Given the description of an element on the screen output the (x, y) to click on. 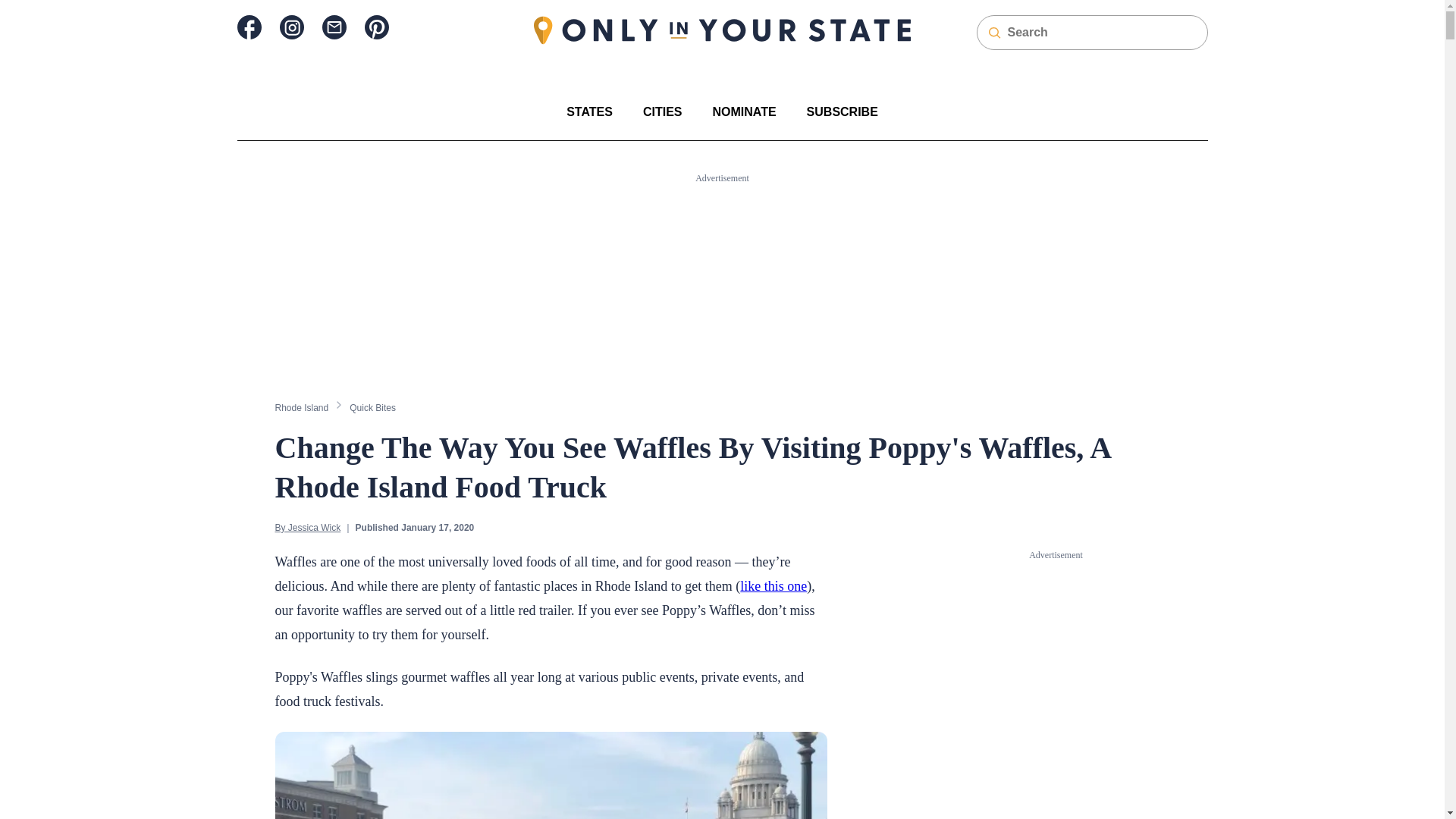
Quick Bites (372, 407)
Only in Your State (722, 30)
instagram (290, 27)
facebook (247, 27)
STATES (589, 111)
newsletter (333, 27)
Search (21, 7)
pinterest (376, 27)
